Given the description of an element on the screen output the (x, y) to click on. 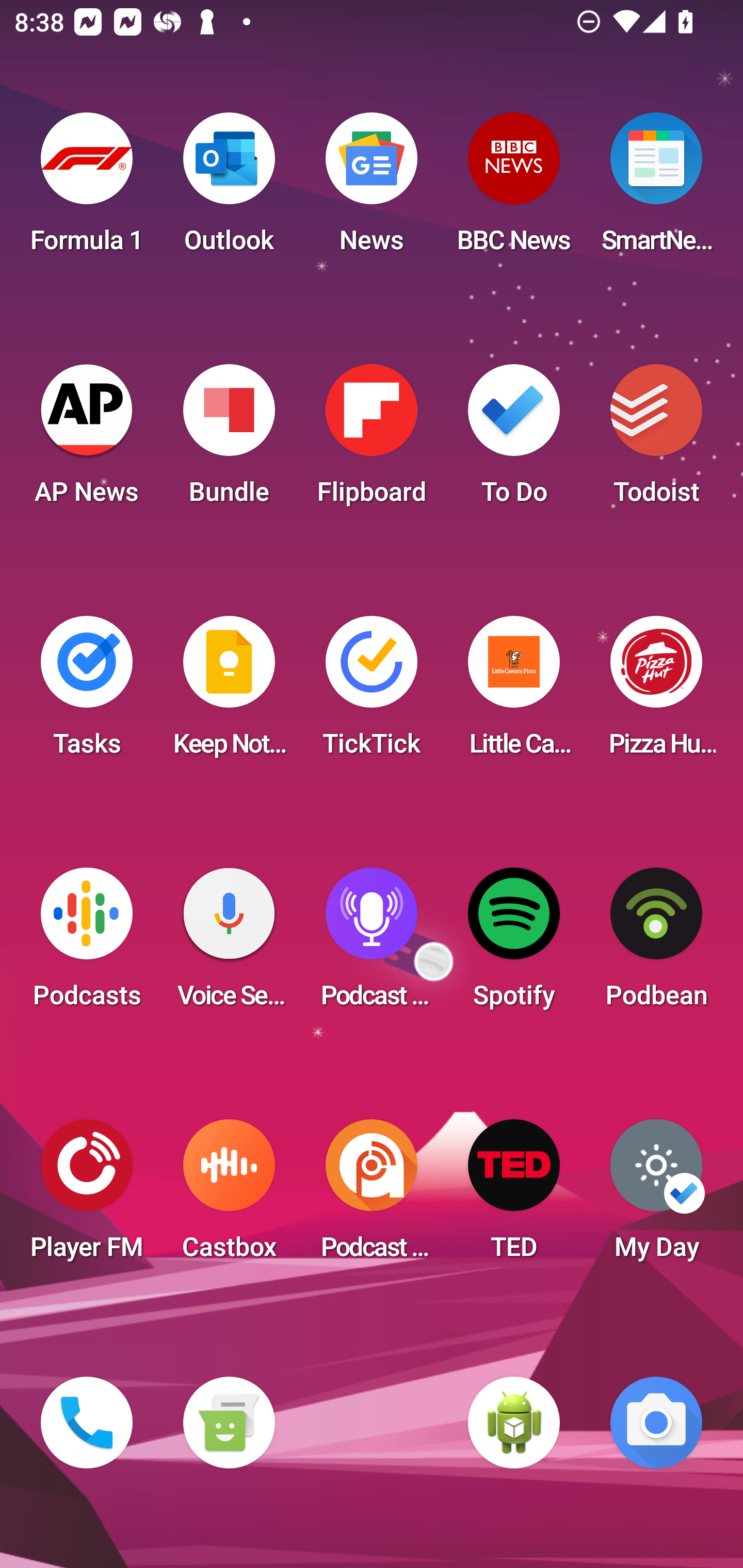
Formula 1 (86, 188)
Outlook (228, 188)
News (371, 188)
BBC News (513, 188)
SmartNews (656, 188)
AP News (86, 440)
Bundle (228, 440)
Flipboard (371, 440)
To Do (513, 440)
Todoist (656, 440)
Tasks (86, 692)
Keep Notes (228, 692)
TickTick (371, 692)
Little Caesars Pizza (513, 692)
Pizza Hut HK & Macau (656, 692)
Podcasts (86, 943)
Voice Search (228, 943)
Podcast Player (371, 943)
Spotify (513, 943)
Podbean (656, 943)
Player FM (86, 1195)
Castbox (228, 1195)
Podcast Addict (371, 1195)
TED (513, 1195)
My Day (656, 1195)
Phone (86, 1422)
Messaging (228, 1422)
WebView Browser Tester (513, 1422)
Camera (656, 1422)
